Given the description of an element on the screen output the (x, y) to click on. 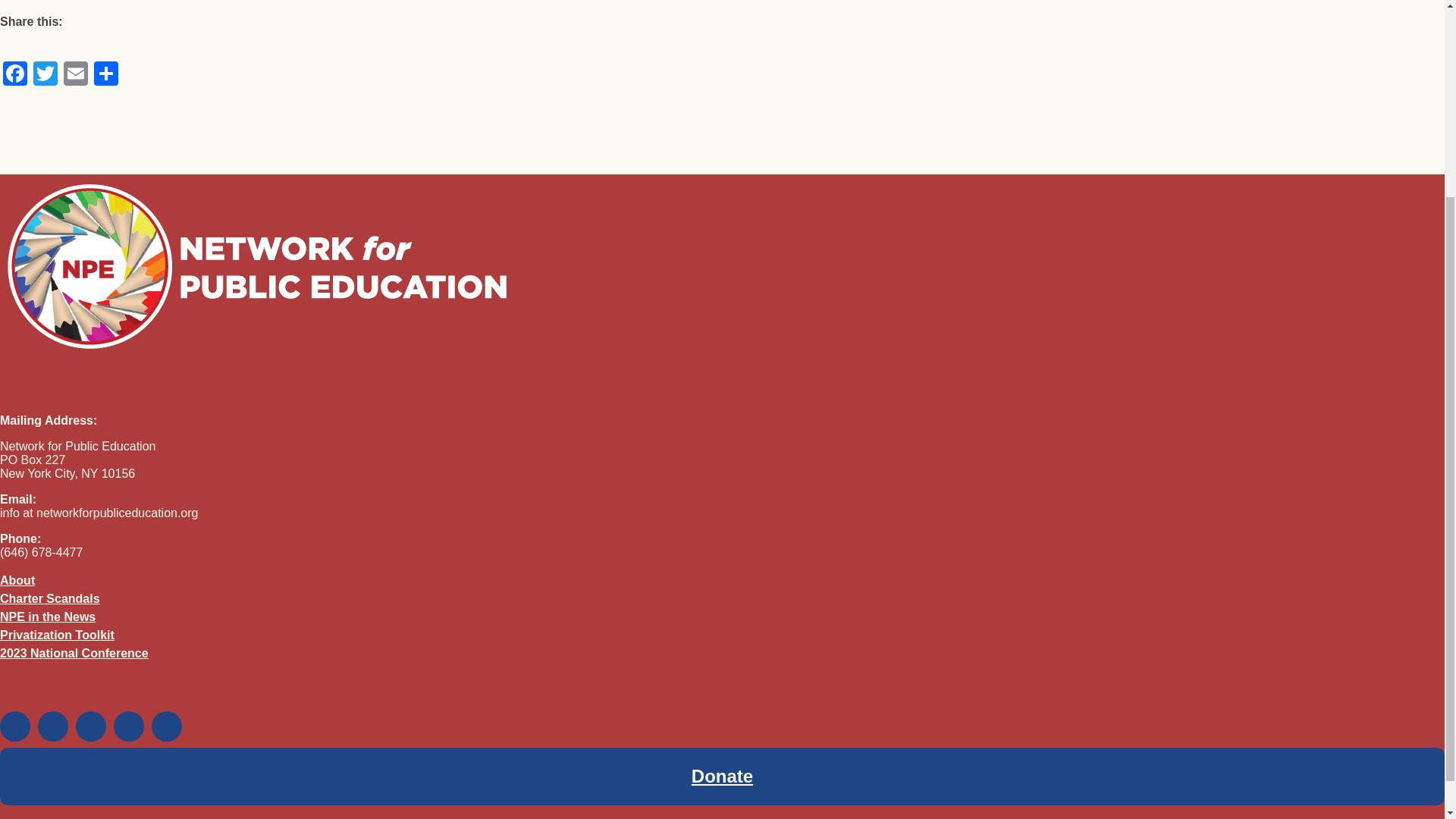
threads (166, 726)
Twitter (45, 75)
Facebook (15, 75)
tik tok (128, 726)
Email (75, 75)
Twitter (45, 75)
twitter (52, 726)
Email (75, 75)
facebook (15, 726)
Facebook (15, 75)
instagram (90, 726)
Share (105, 75)
